Given the description of an element on the screen output the (x, y) to click on. 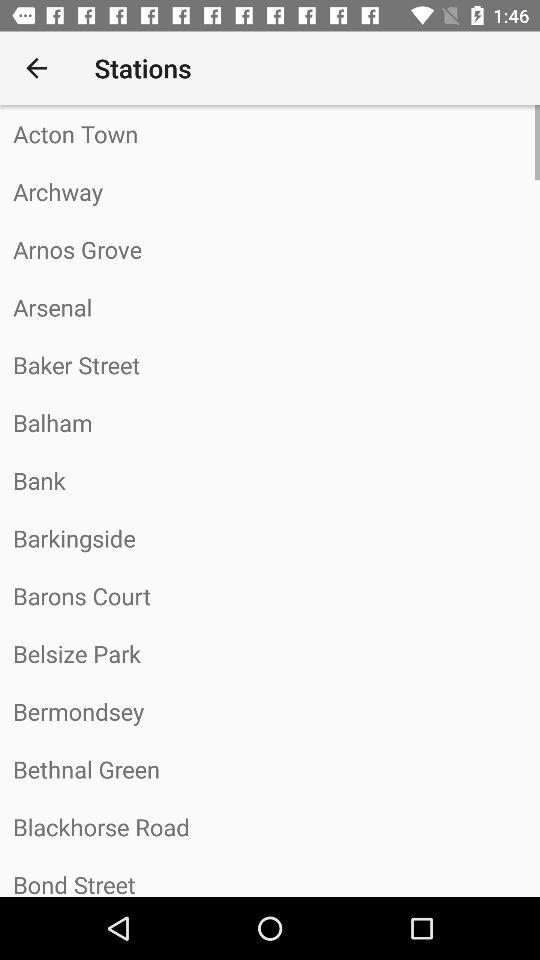
tap item above barons court (270, 538)
